Given the description of an element on the screen output the (x, y) to click on. 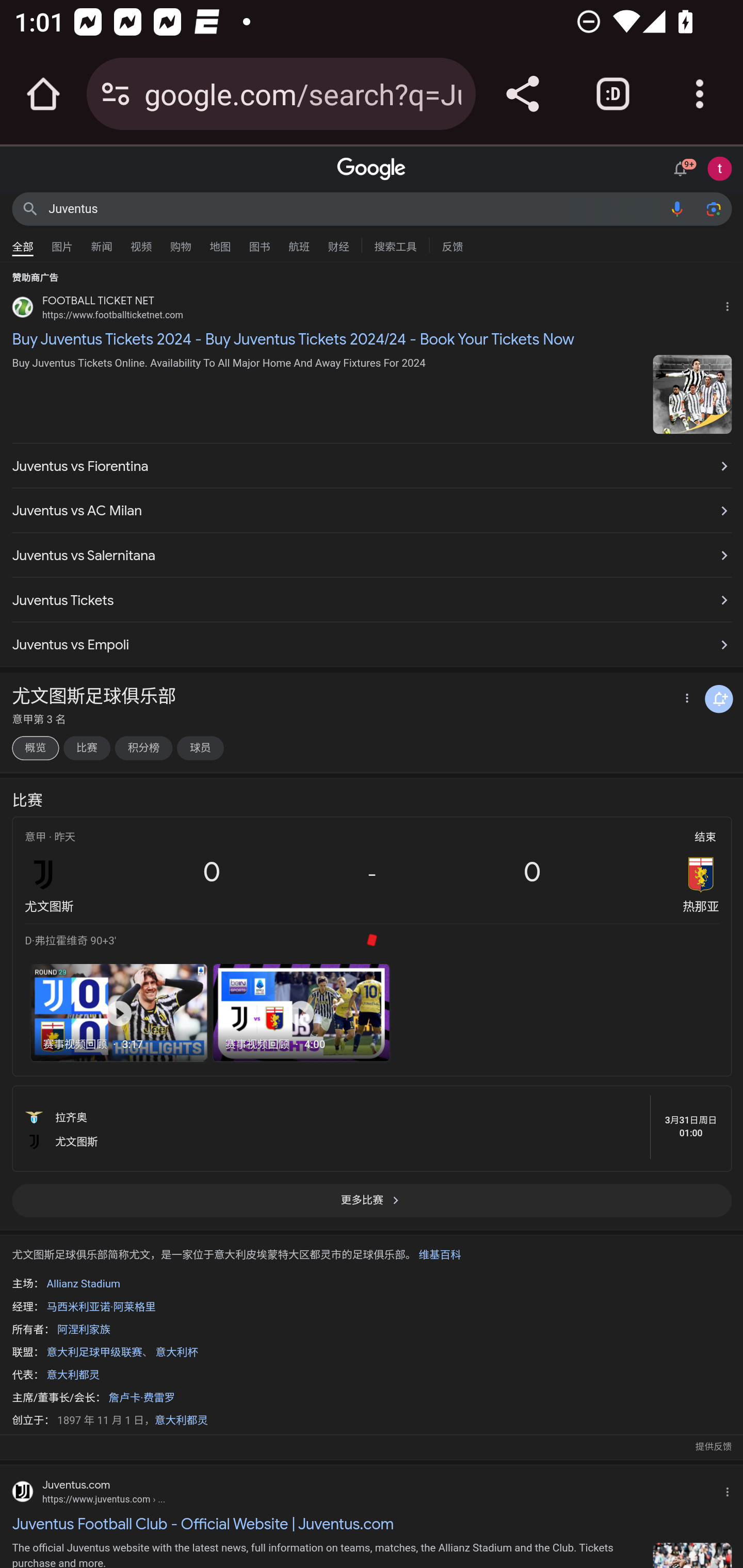
Open the home page (43, 93)
Connection is secure (115, 93)
Share (522, 93)
Switch or close tabs (612, 93)
Customize and control Google Chrome (699, 93)
Google (371, 169)
有 9 条以上的新通知 (683, 166)
Google 账号： test appium (testappium002@gmail.com) (719, 168)
Google 搜索 (29, 208)
使用拍照功能或照片进行搜索 (712, 208)
Juventus (353, 208)
图片 (62, 241)
新闻 (101, 241)
视频 (141, 241)
购物 (180, 241)
地图 (219, 241)
图书 (259, 241)
航班 (299, 241)
财经 (338, 241)
搜索工具 (395, 244)
反馈 (452, 244)
为什么会显示该广告？ (731, 303)
图片来自 footballticketnet.com (691, 394)
Juventus vs Fiorentina (371, 466)
Juventus vs AC Milan (371, 511)
Juventus vs Salernitana (371, 555)
Juventus Tickets (371, 599)
Juventus vs Empoli (371, 640)
接收关于“尤文图斯足球俱乐部”的通知 (718, 698)
更多选项 (685, 698)
概览 (34, 747)
比赛 (86, 747)
积分榜 (143, 747)
球员 (199, 747)
更多比赛 (371, 1206)
维基百科 (439, 1254)
Allianz Stadium (83, 1283)
马西米利亚诺·阿莱格里 (101, 1306)
阿涅利家族 (83, 1329)
意大利足球甲级联赛 (94, 1352)
意大利杯 (176, 1352)
意大利都灵 (73, 1374)
詹卢卡·费雷罗 (140, 1397)
意大利都灵 (180, 1420)
提供反馈 (713, 1447)
